Given the description of an element on the screen output the (x, y) to click on. 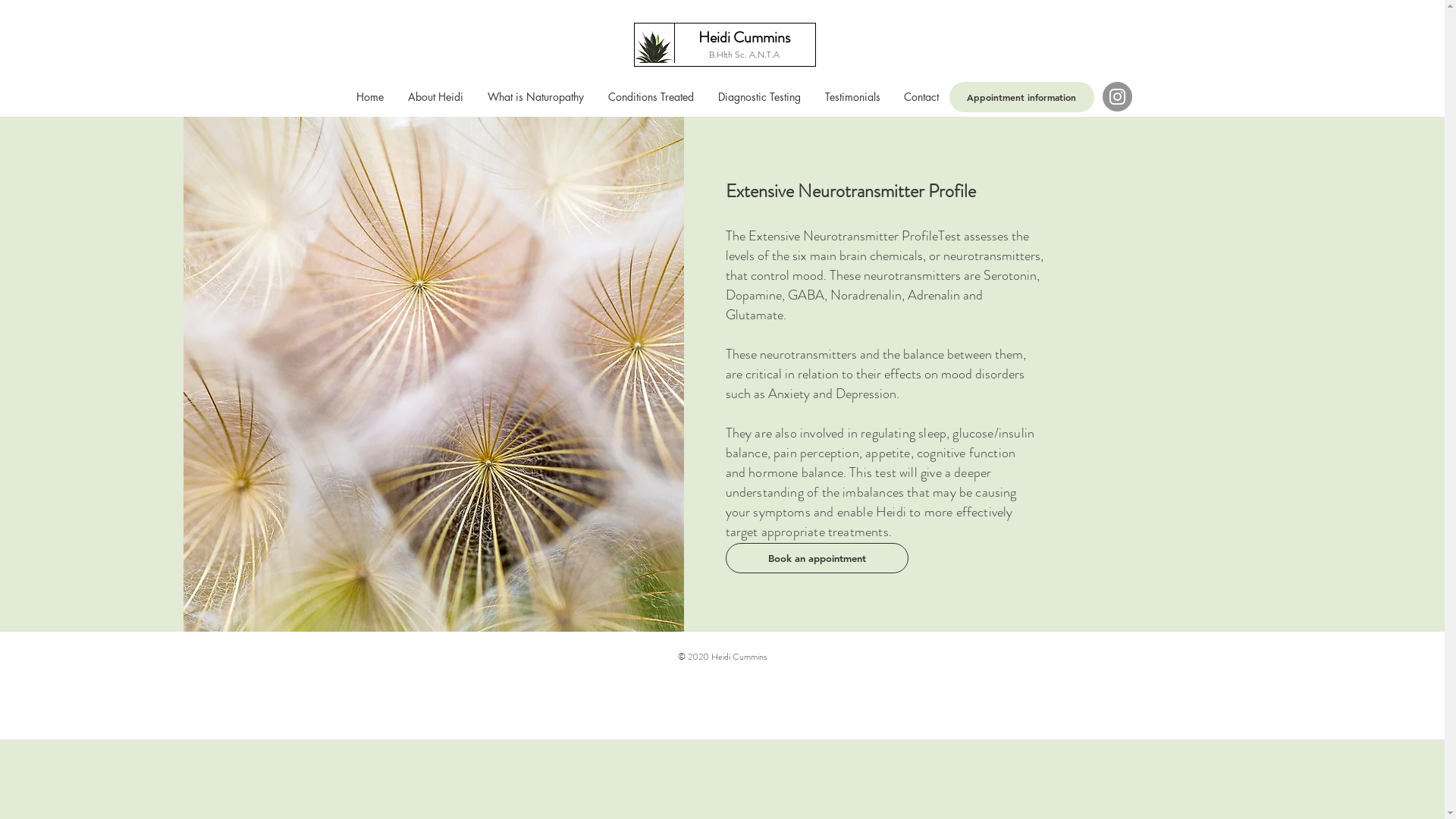
Testimonials Element type: text (851, 96)
Contact Element type: text (920, 96)
Conditions Treated Element type: text (651, 96)
Appointment information Element type: text (1021, 96)
Book an appointment Element type: text (815, 557)
About Heidi Element type: text (435, 96)
Home Element type: text (369, 96)
What is Naturopathy Element type: text (536, 96)
